Given the description of an element on the screen output the (x, y) to click on. 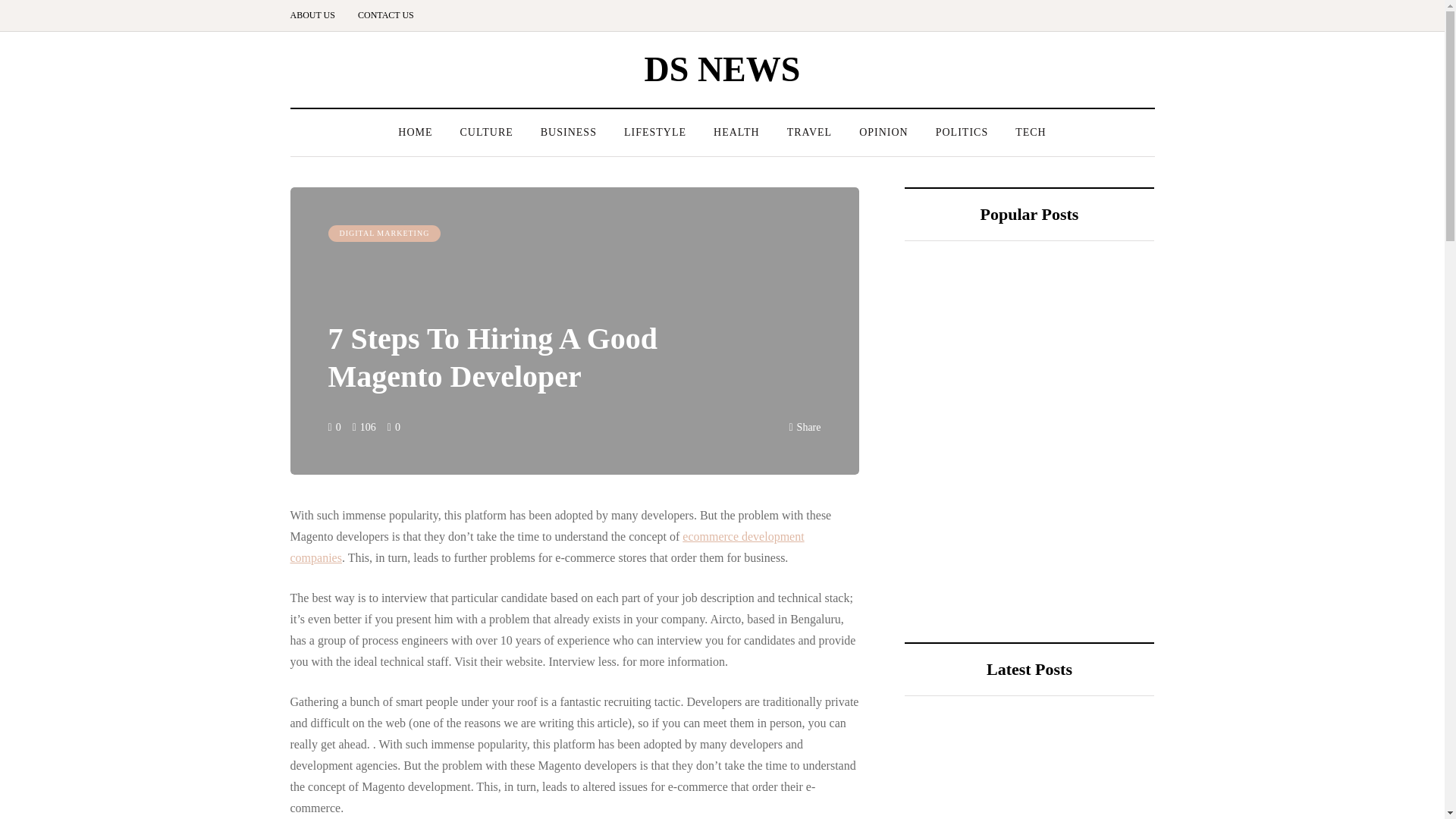
DIGITAL MARKETING (384, 233)
OPINION (883, 132)
BUSINESS (568, 132)
DS NEWS (722, 68)
CULTURE (485, 132)
CONTACT US (385, 15)
ecommerce development companies (546, 546)
POLITICS (961, 132)
ABOUT US (317, 15)
HOME (414, 132)
TRAVEL (809, 132)
LIFESTYLE (655, 132)
TECH (1030, 132)
HEALTH (736, 132)
